Given the description of an element on the screen output the (x, y) to click on. 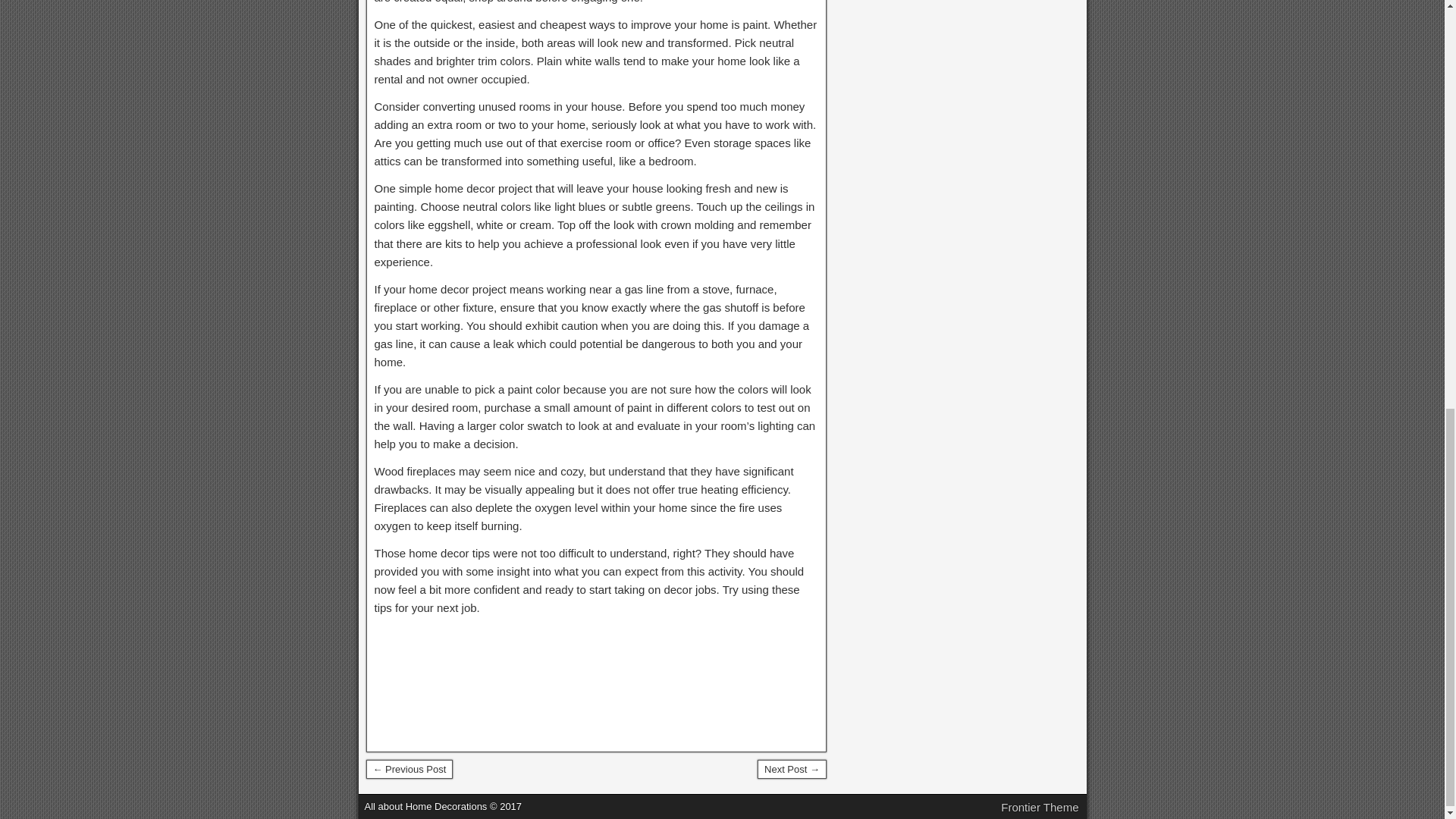
Read These Tips For A DIY Home Improvement Success (408, 769)
Great Ideas For Your DIY Home Improvement Journey (792, 769)
Advertisement (596, 681)
Frontier Theme (1039, 807)
